Given the description of an element on the screen output the (x, y) to click on. 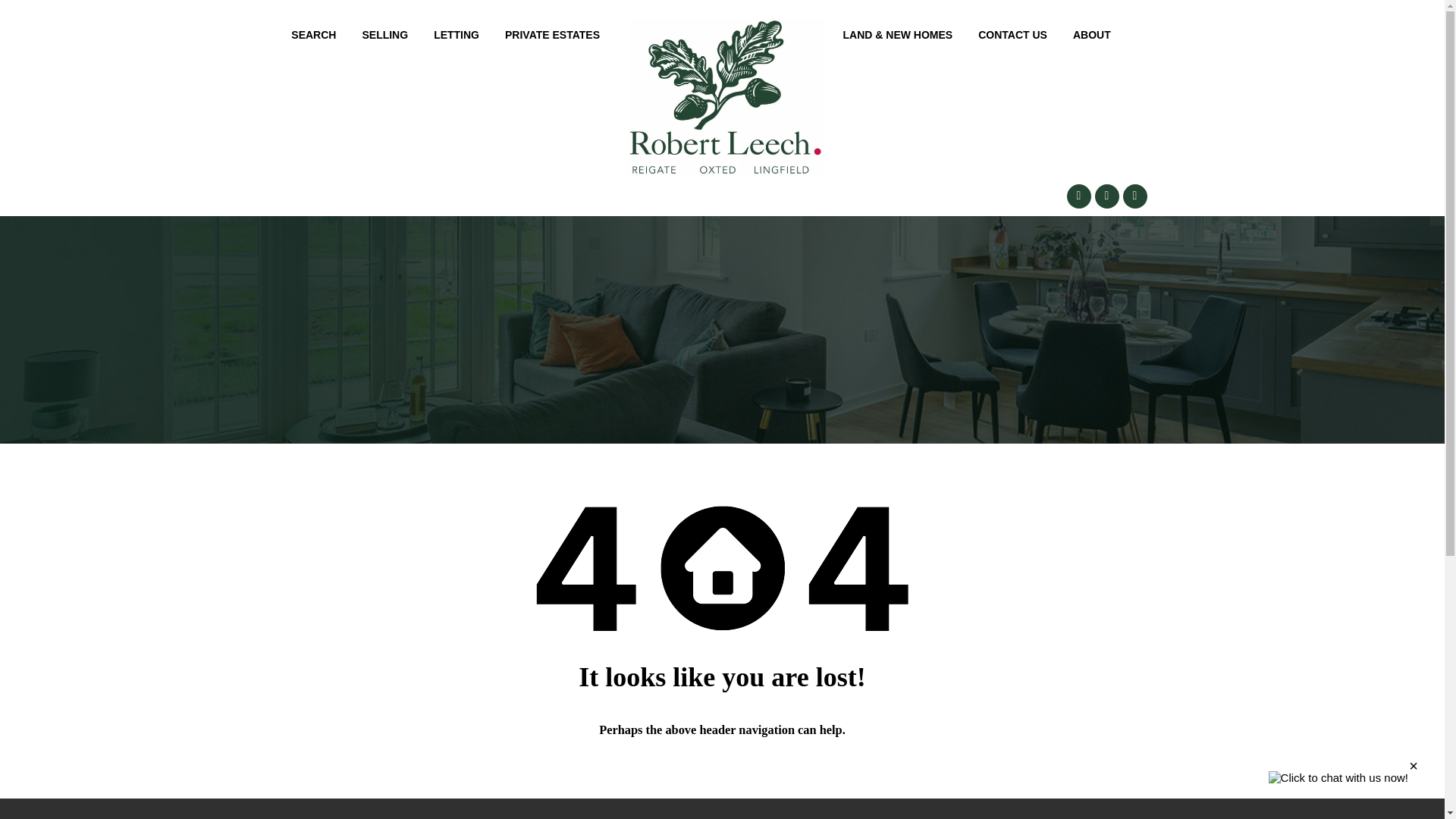
Robert Leech (724, 97)
